Given the description of an element on the screen output the (x, y) to click on. 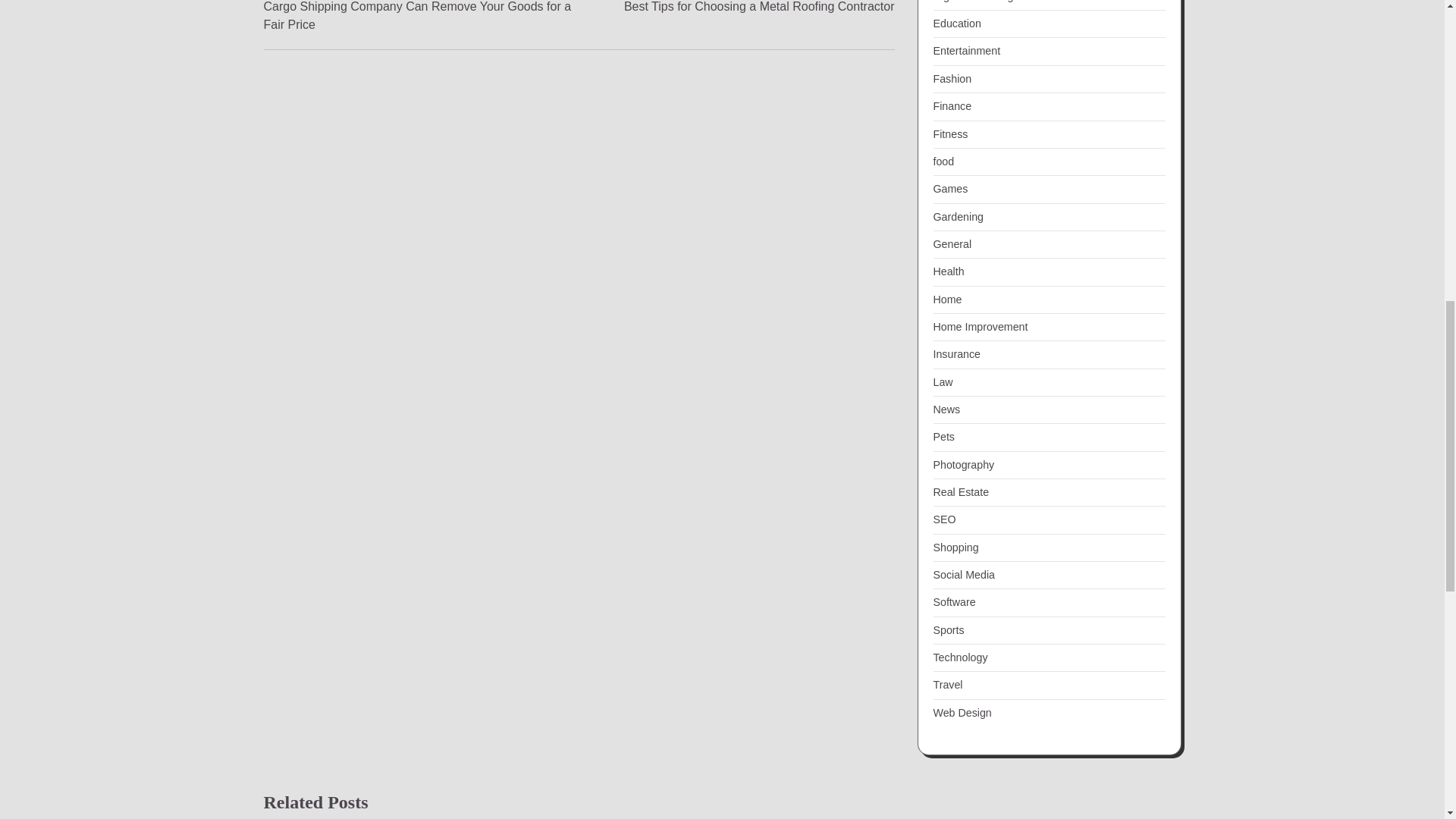
Games (950, 188)
Finance (952, 105)
Digital Marketing (973, 1)
News (946, 409)
Education (956, 23)
Insurance (956, 354)
Fashion (952, 78)
Entertainment (966, 50)
General (952, 244)
Home (946, 299)
